Given the description of an element on the screen output the (x, y) to click on. 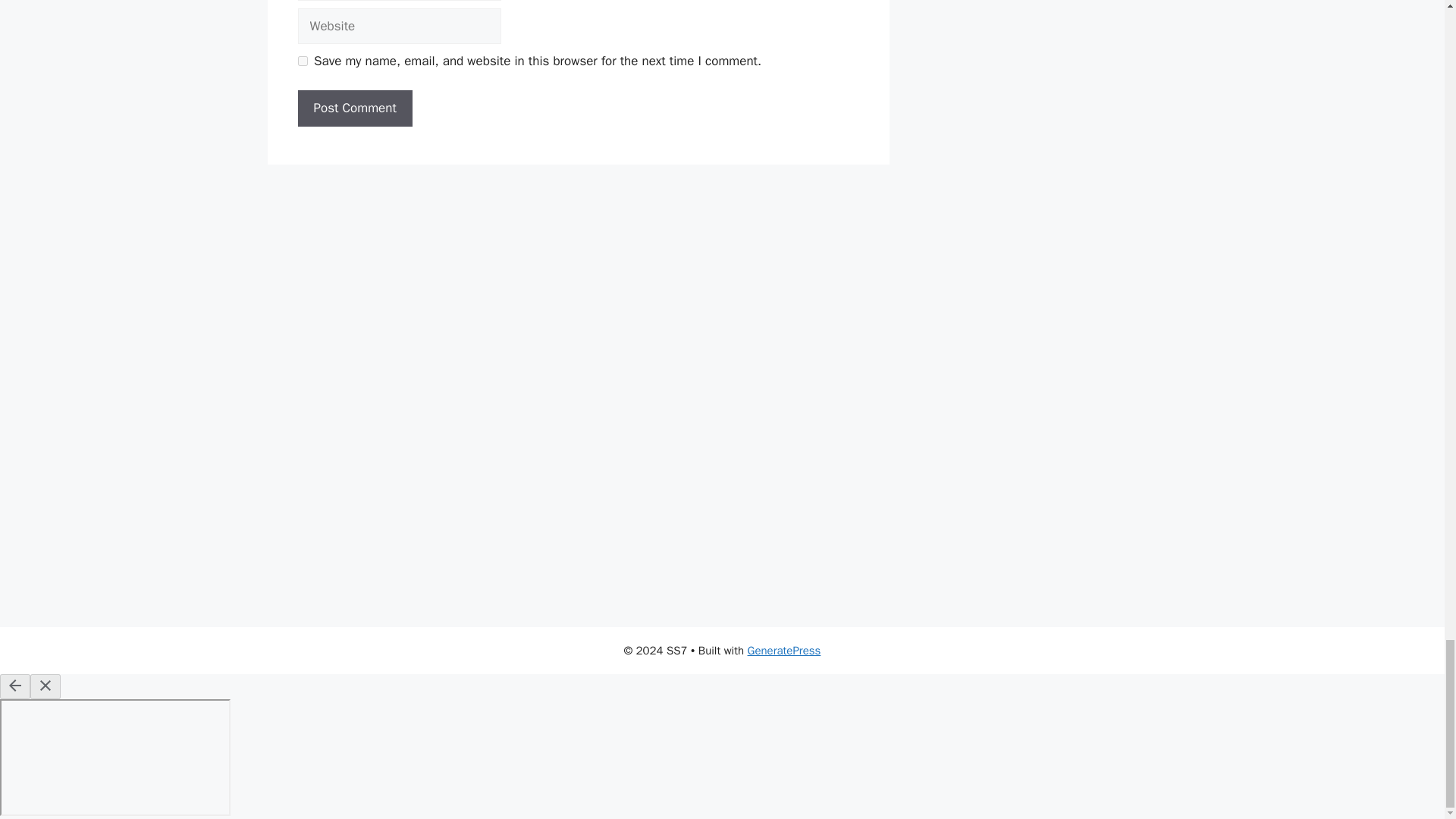
GeneratePress (784, 650)
yes (302, 61)
Post Comment (354, 108)
Post Comment (354, 108)
